Given the description of an element on the screen output the (x, y) to click on. 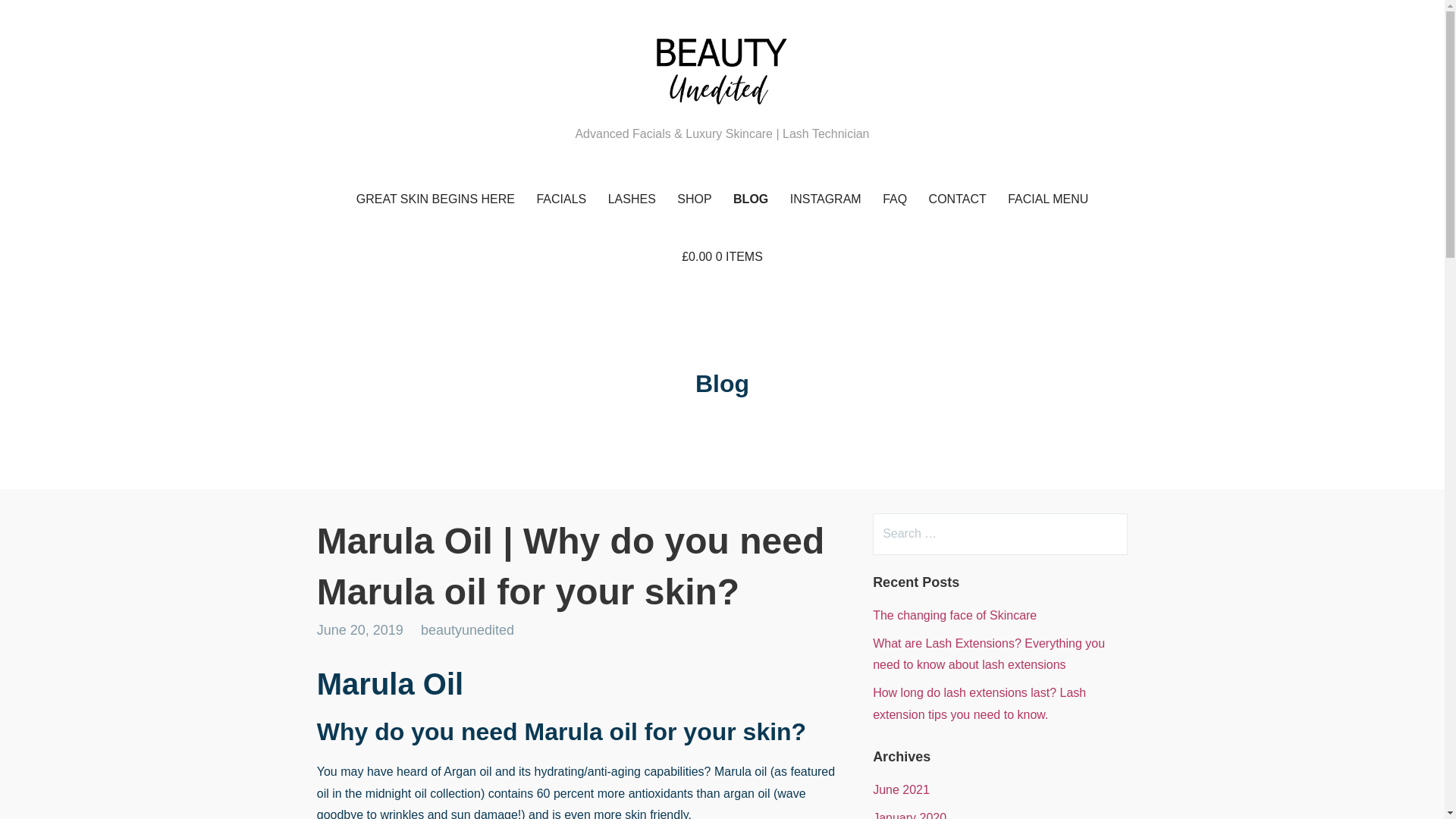
FACIALS (561, 199)
BLOG (750, 199)
beautyunedited (466, 630)
SHOP (694, 199)
LASHES (631, 199)
INSTAGRAM (825, 199)
CONTACT (957, 199)
FACIAL MENU (1047, 199)
GREAT SKIN BEGINS HERE (435, 199)
Posts by beautyunedited (466, 630)
